Given the description of an element on the screen output the (x, y) to click on. 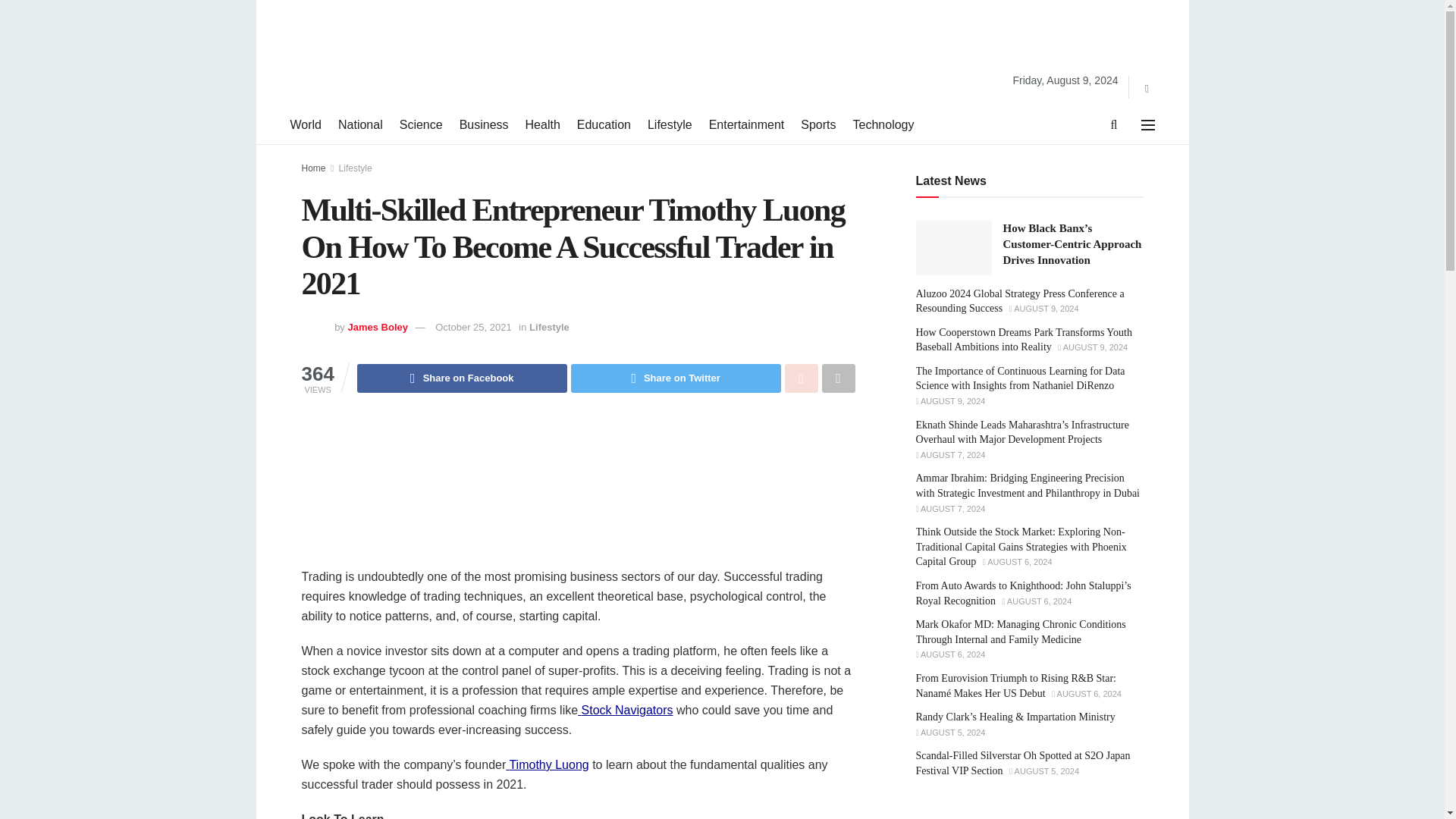
Entertainment (746, 124)
Health (542, 124)
James Boley (377, 326)
Home (313, 167)
October 25, 2021 (473, 326)
Business (484, 124)
Share on Facebook (461, 378)
Sports (817, 124)
Lifestyle (670, 124)
Education (603, 124)
